Given the description of an element on the screen output the (x, y) to click on. 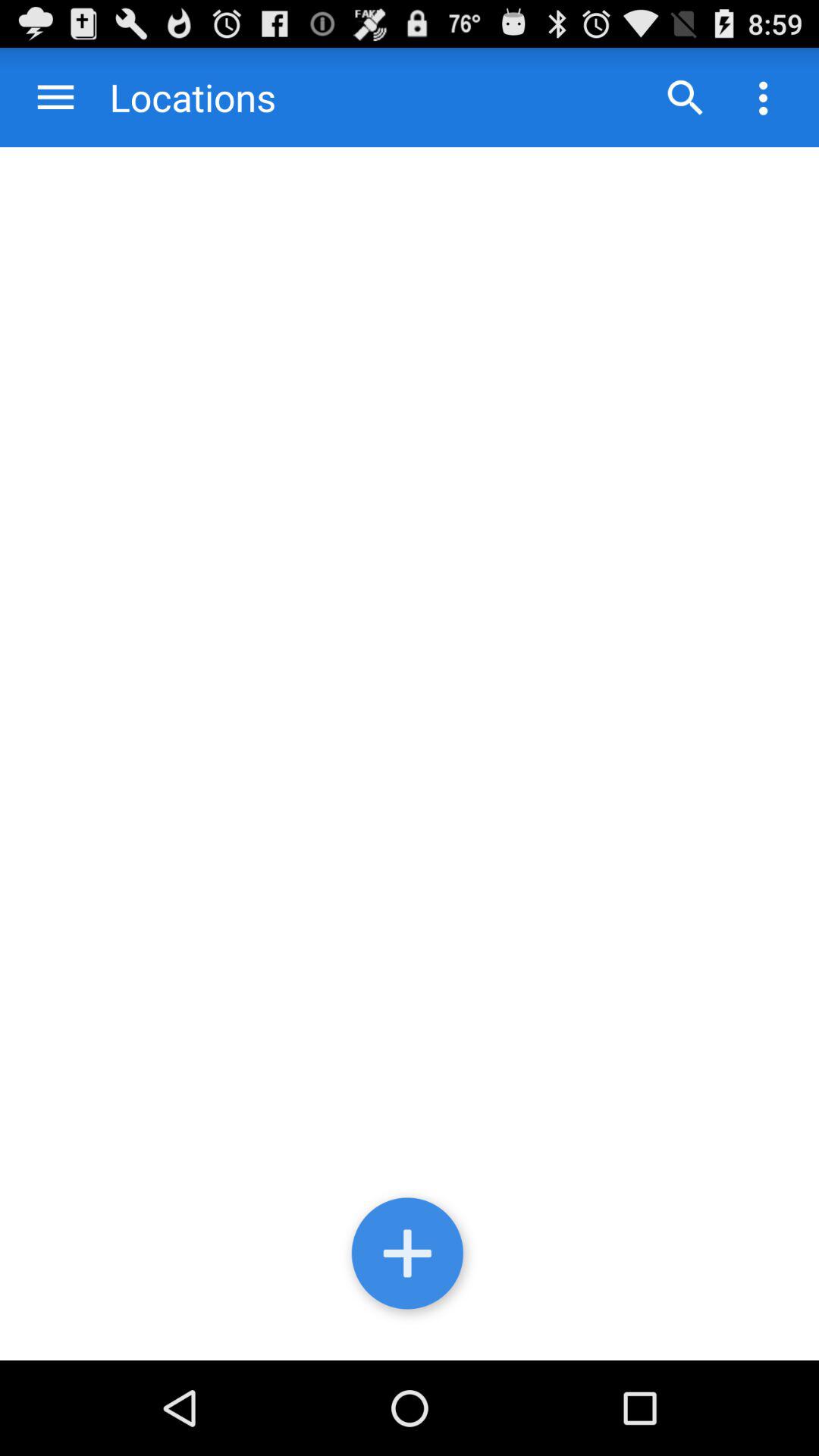
open the app next to the locations (55, 97)
